Given the description of an element on the screen output the (x, y) to click on. 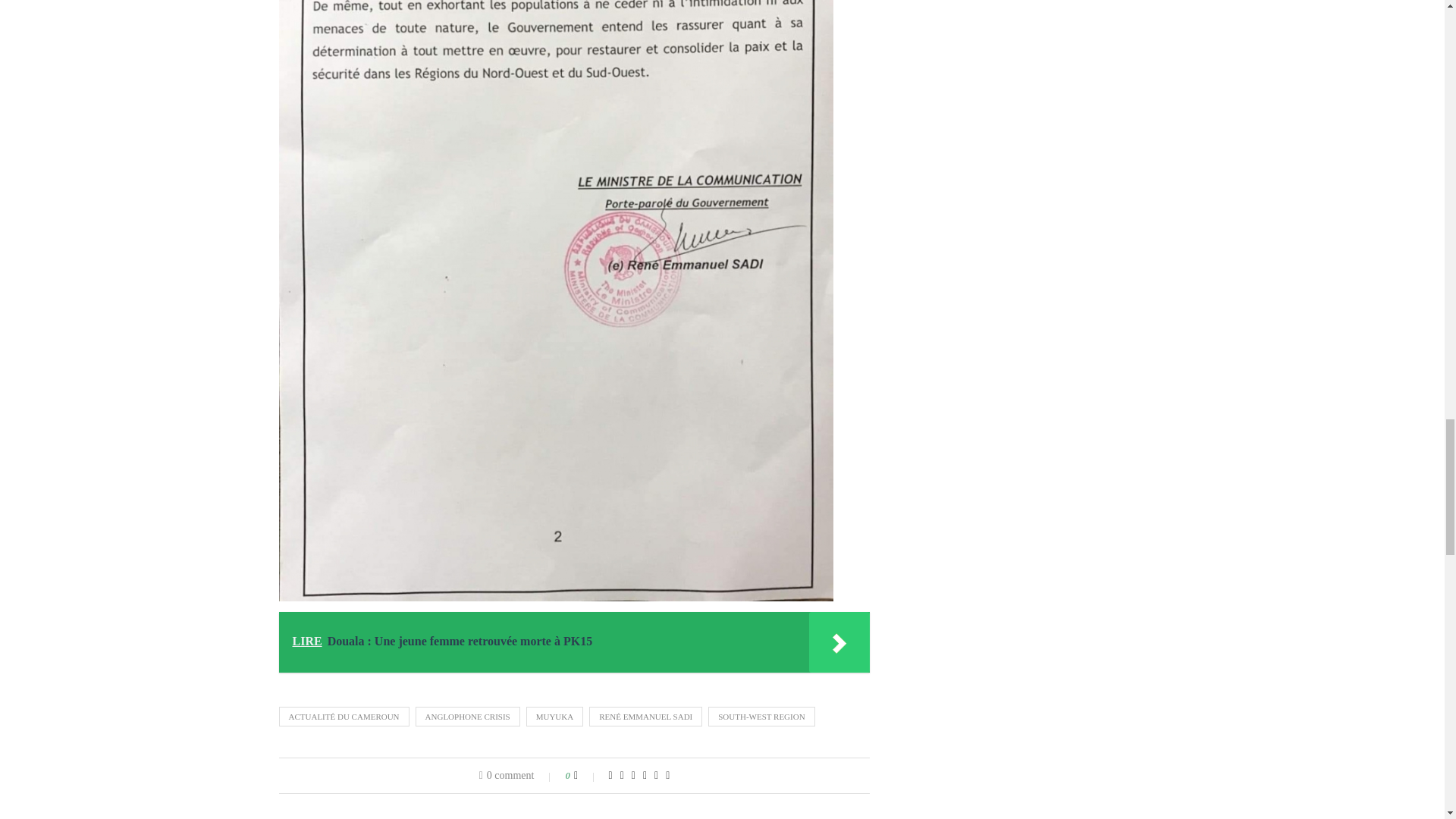
ANGLOPHONE CRISIS (466, 716)
MUYUKA (554, 716)
SOUTH-WEST REGION (760, 716)
Like (585, 775)
